Given the description of an element on the screen output the (x, y) to click on. 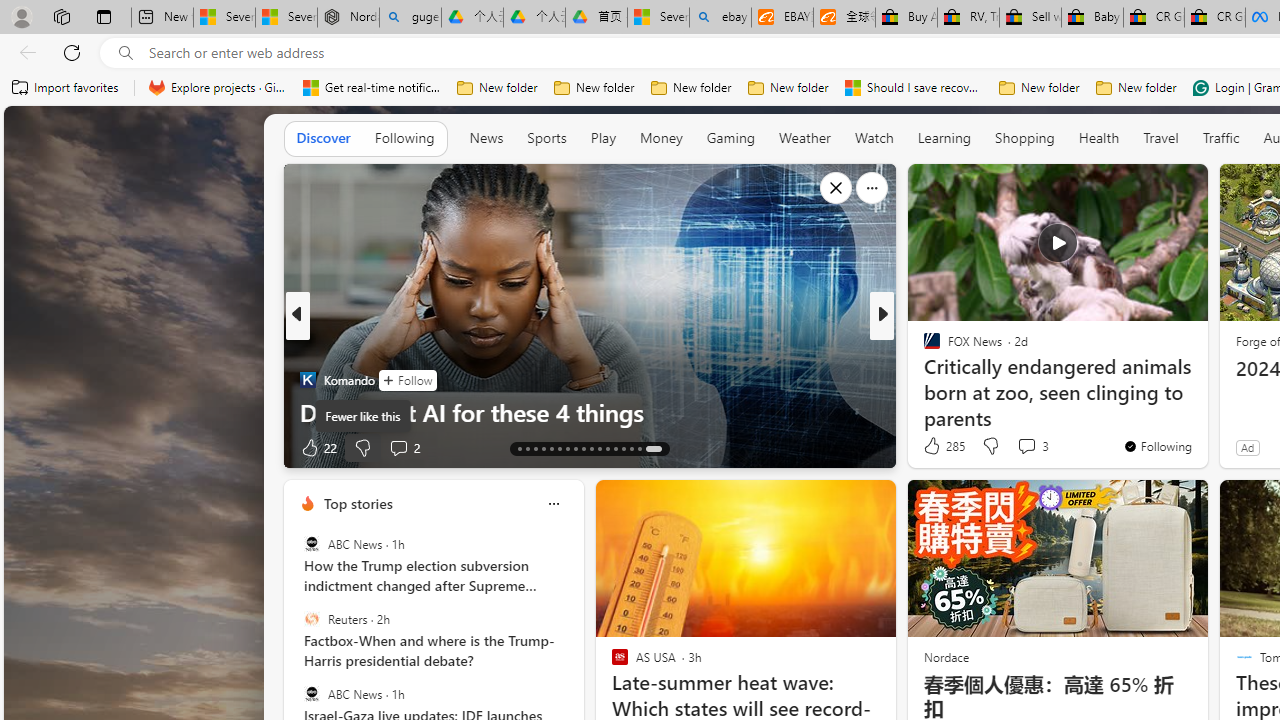
RV, Trailer & Camper Steps & Ladders for sale | eBay (968, 17)
Gaming (730, 138)
22 Like (317, 447)
Baby Keepsakes & Announcements for sale | eBay (1092, 17)
Import favorites (65, 88)
AutomationID: tab-16 (542, 448)
View comments 3 Comment (1026, 445)
Weather (804, 137)
